Given the description of an element on the screen output the (x, y) to click on. 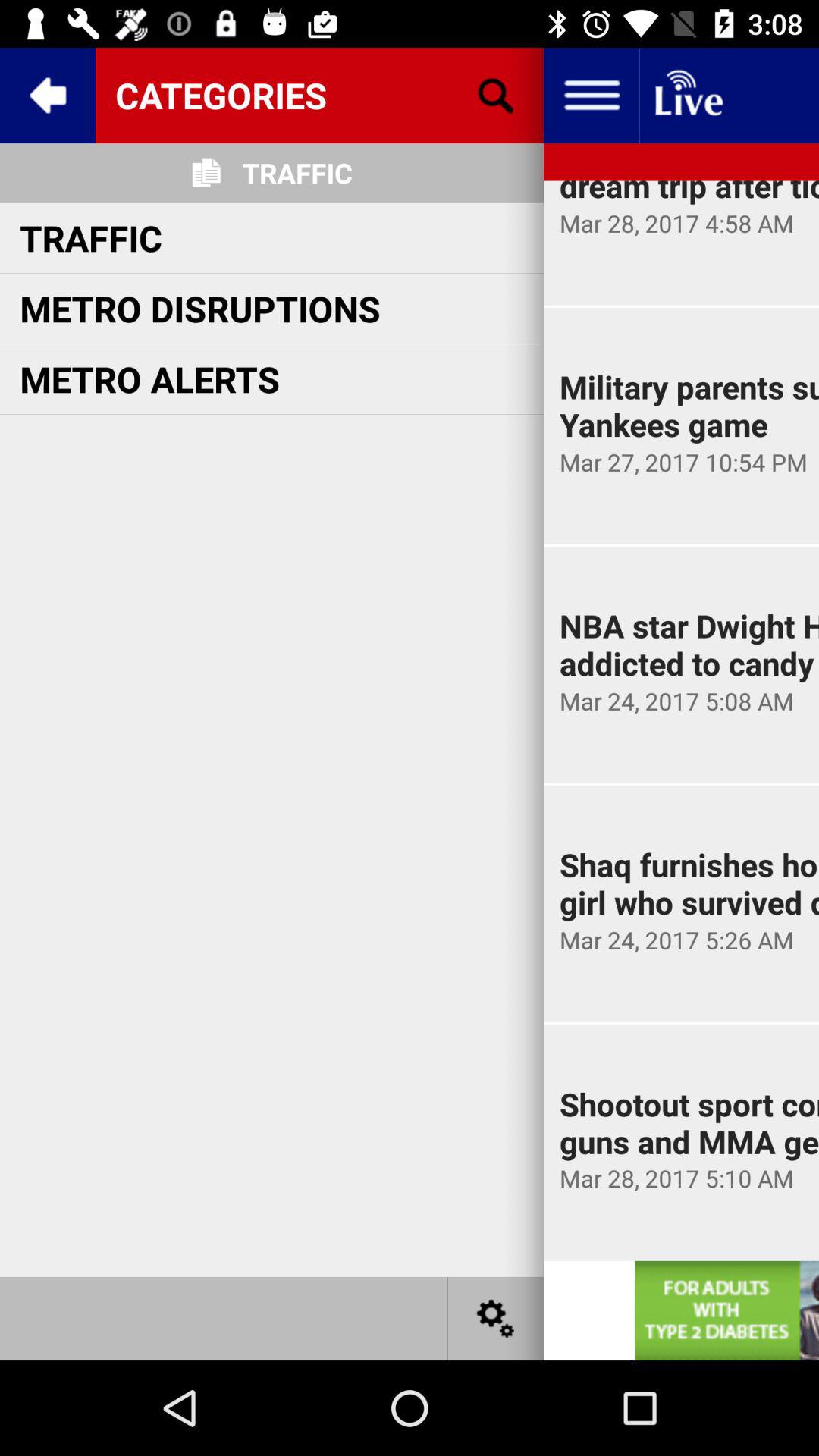
setting bar (591, 95)
